Given the description of an element on the screen output the (x, y) to click on. 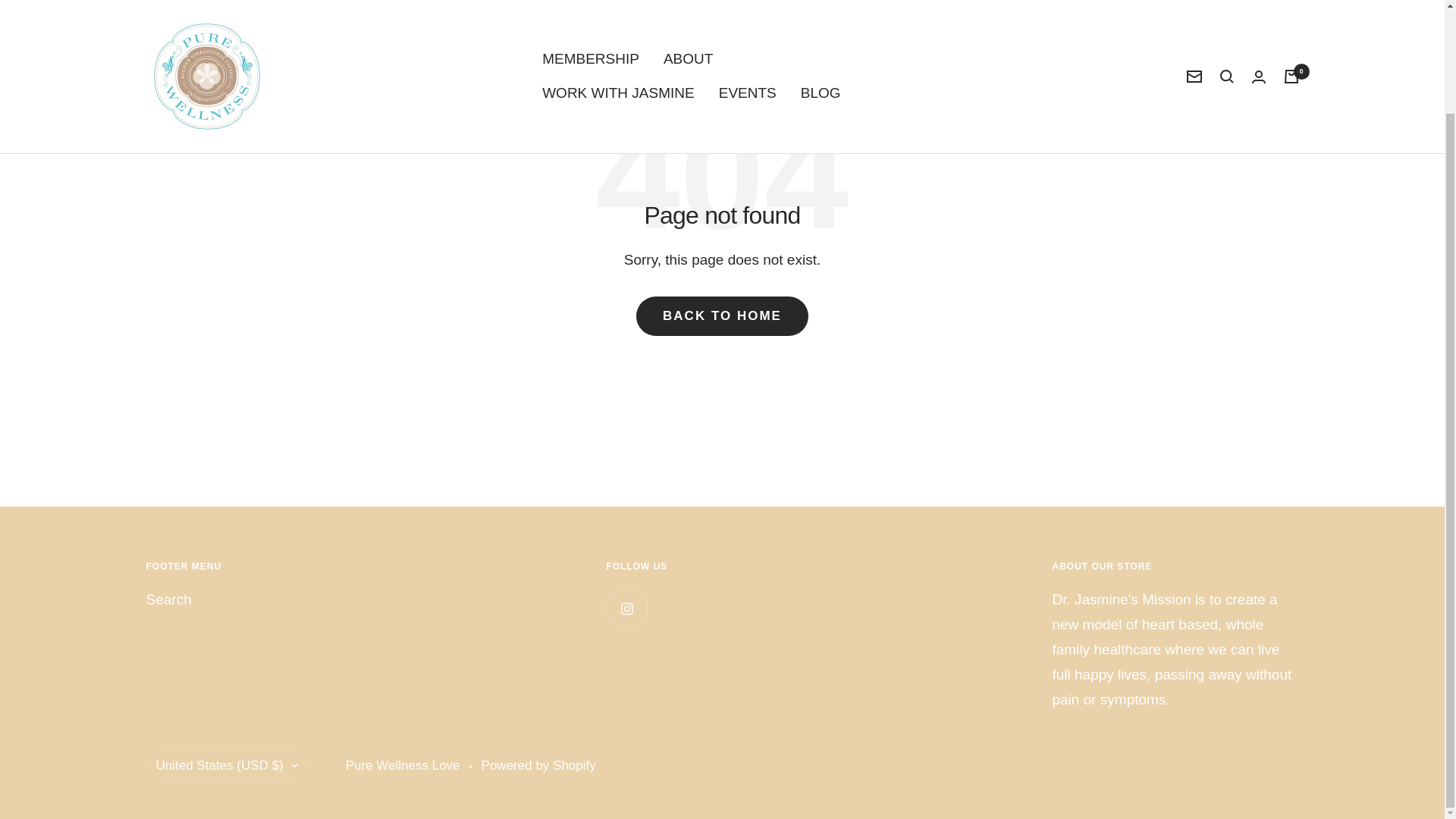
AT (304, 758)
AG (304, 617)
AL (304, 499)
AU (304, 734)
AO (304, 570)
AR (304, 640)
BS (304, 805)
AW (304, 687)
AC (304, 710)
AM (304, 664)
